Given the description of an element on the screen output the (x, y) to click on. 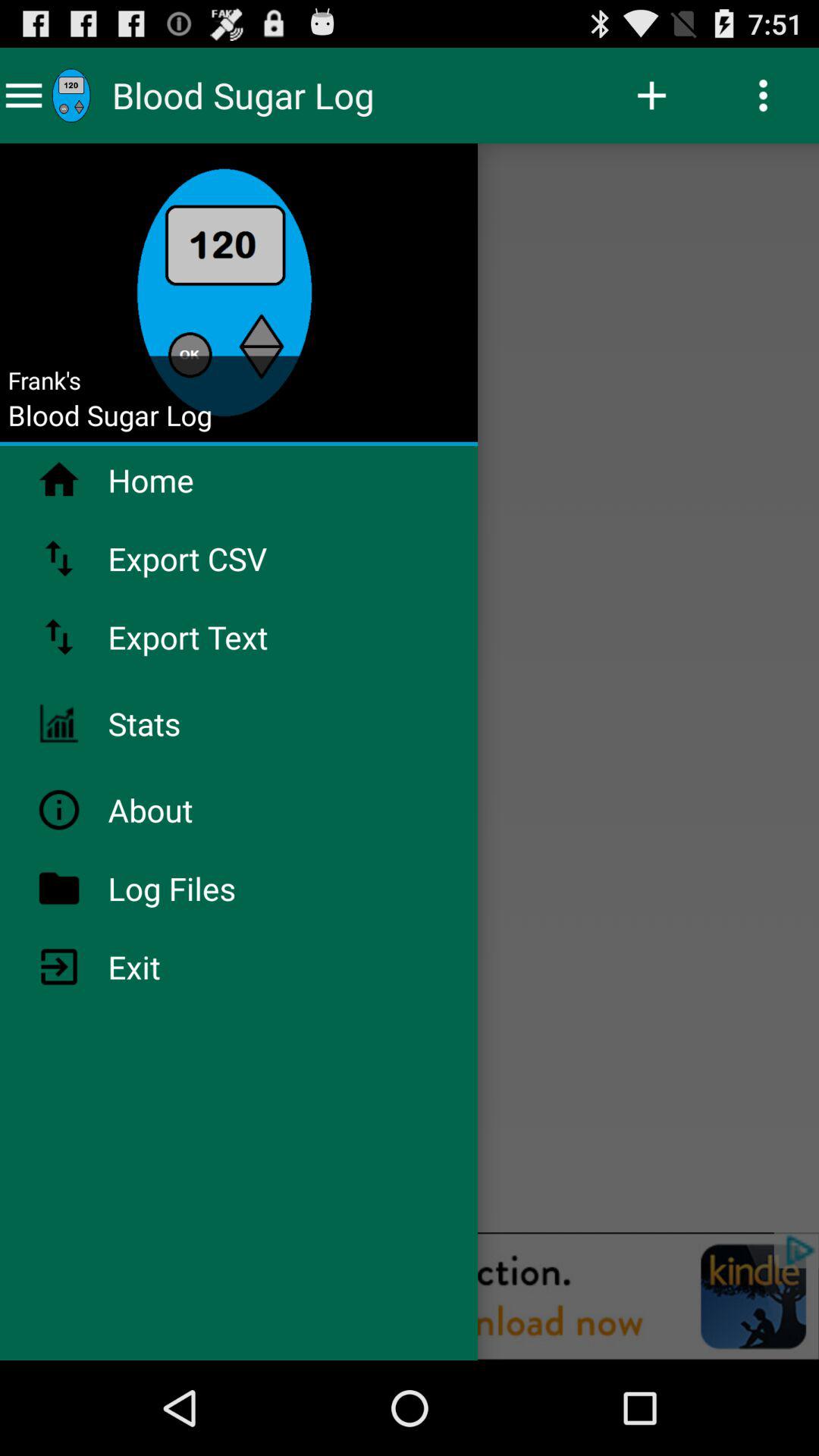
flip until the export csv item (227, 558)
